Given the description of an element on the screen output the (x, y) to click on. 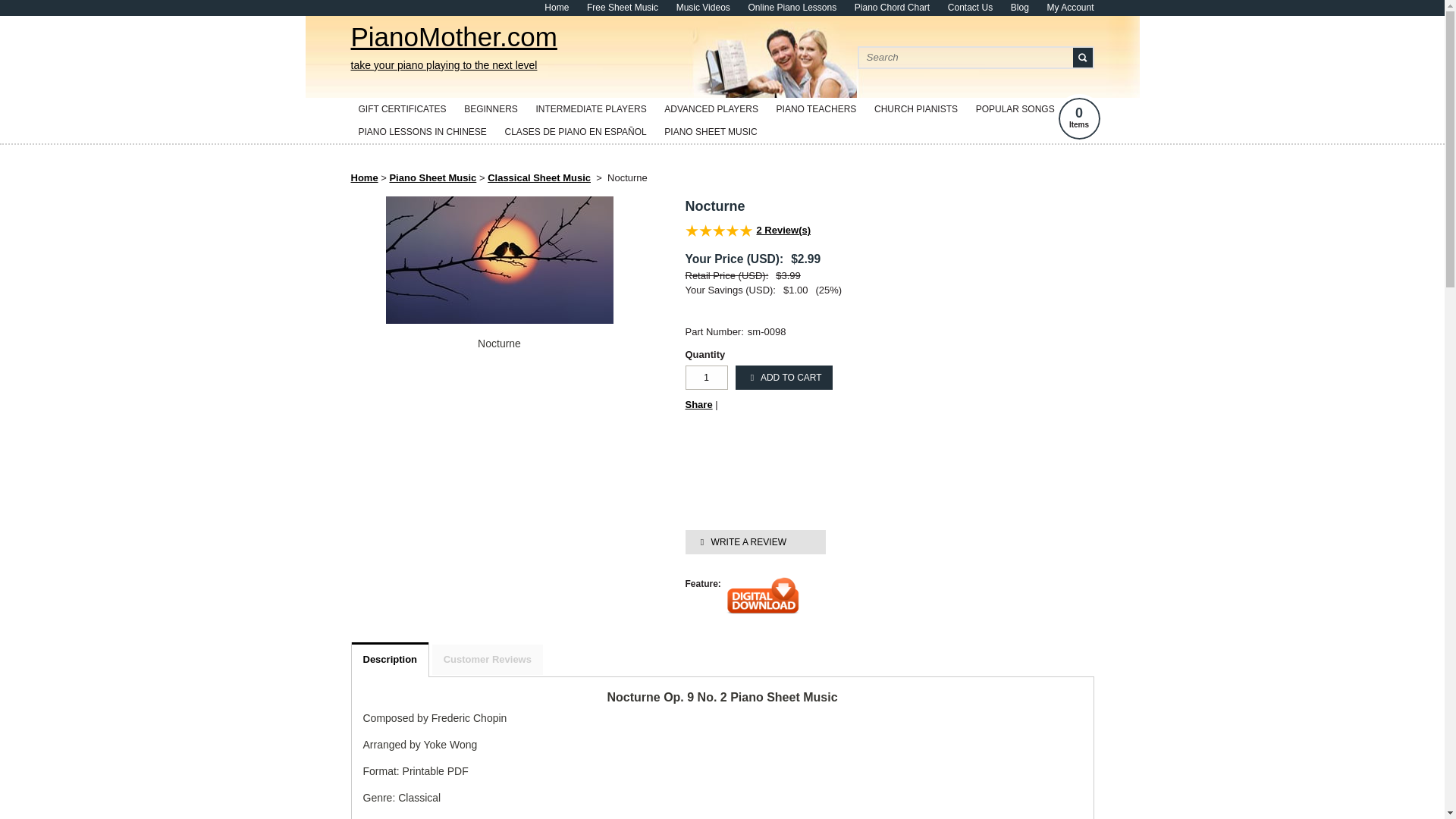
1 (706, 377)
Home (556, 7)
PayPal (780, 493)
PianoMother.com (453, 48)
Nocturne  (498, 343)
